Given the description of an element on the screen output the (x, y) to click on. 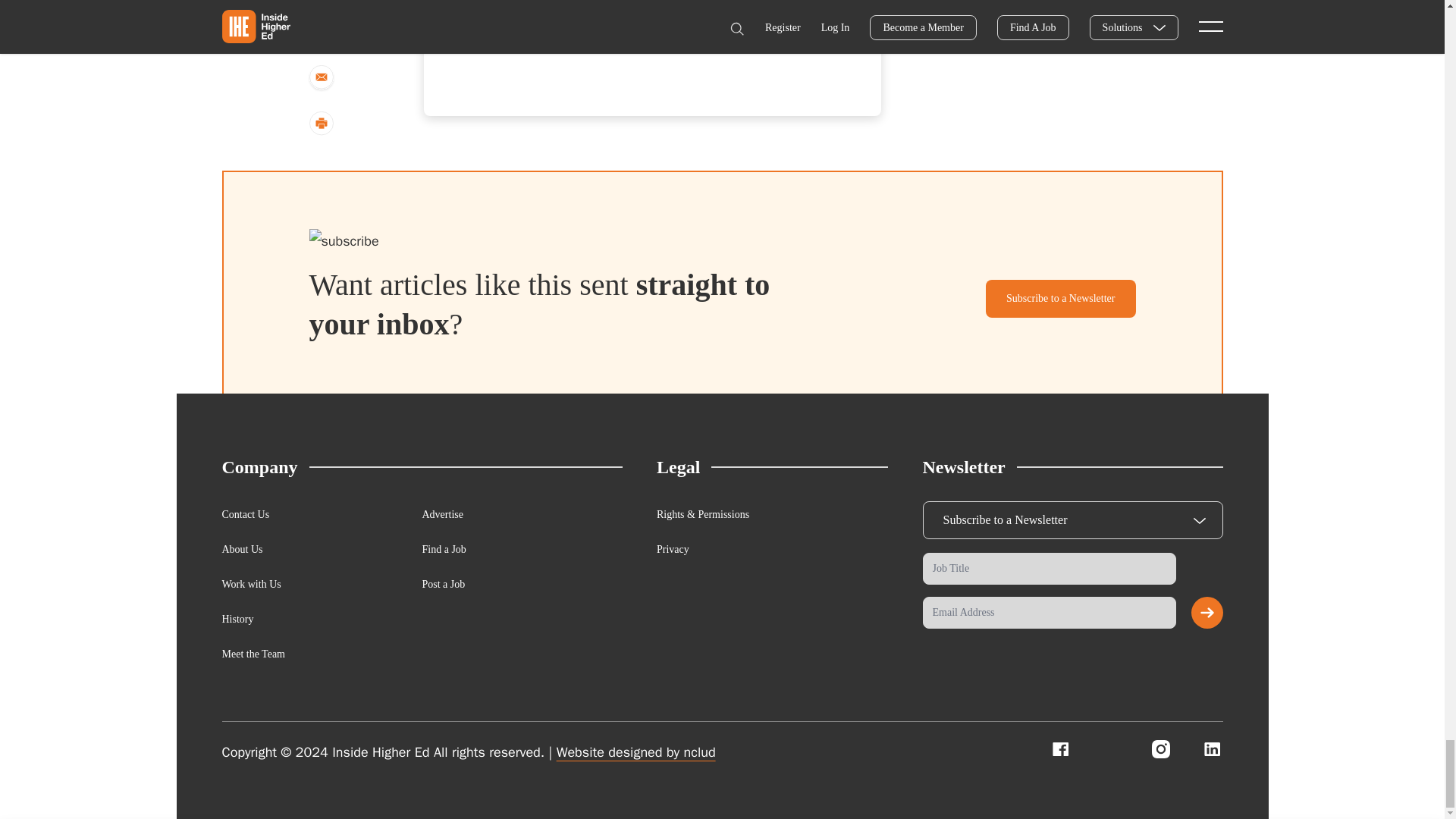
Submit (1207, 612)
